Given the description of an element on the screen output the (x, y) to click on. 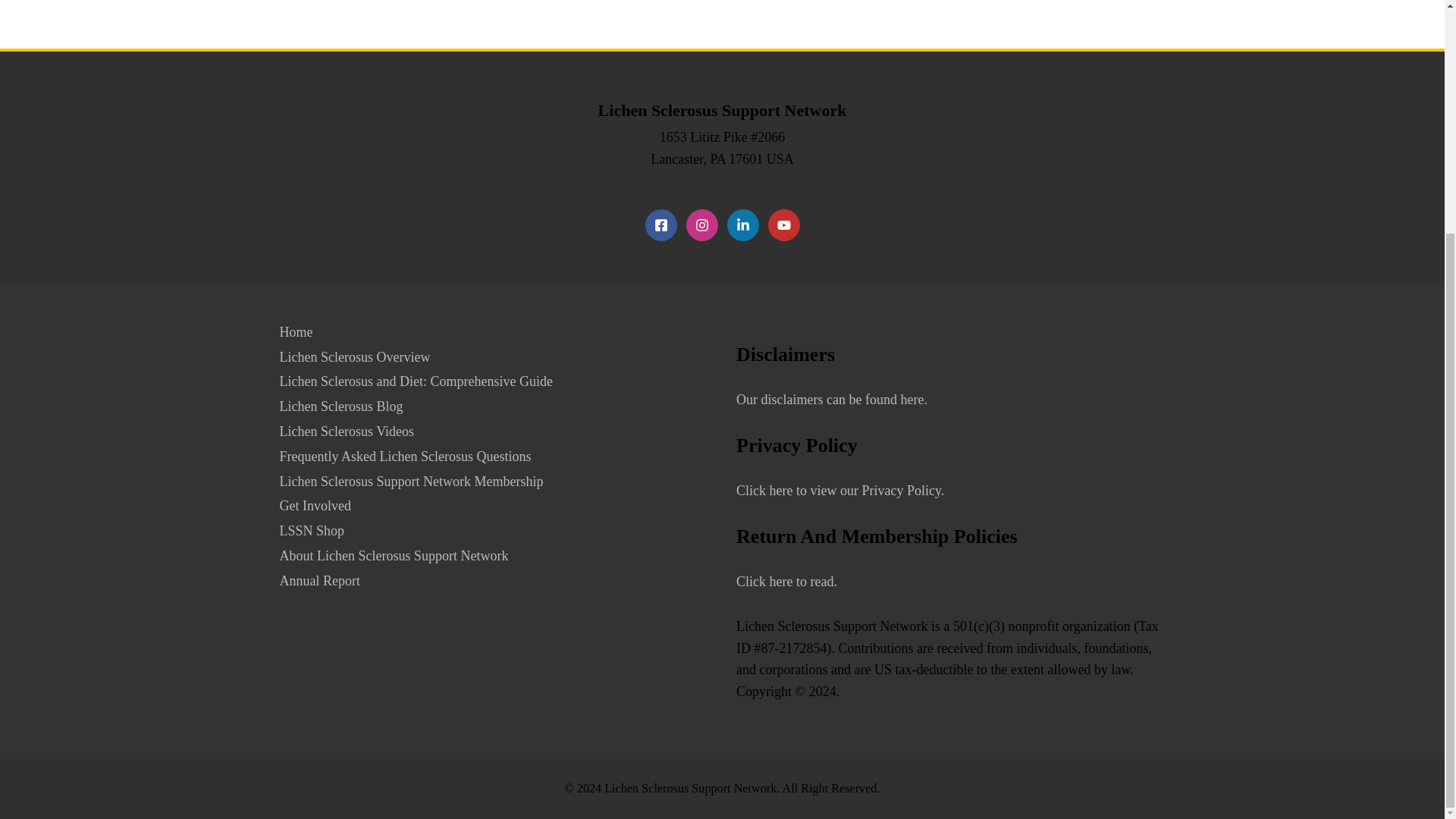
Instagram Link (701, 224)
LinkedIn Page (742, 224)
YouTube Channel Link (783, 224)
Facebook Page (661, 224)
